Given the description of an element on the screen output the (x, y) to click on. 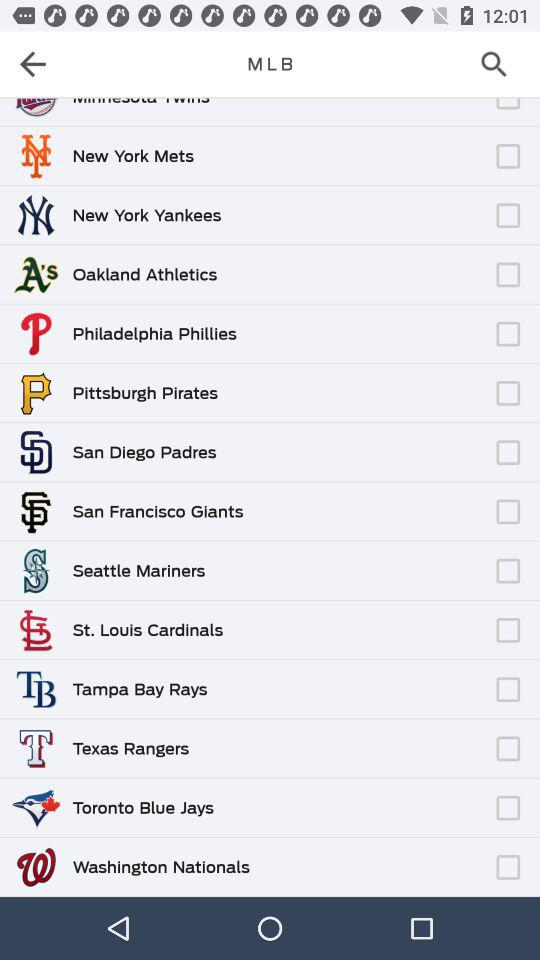
flip to texas rangers icon (130, 748)
